Given the description of an element on the screen output the (x, y) to click on. 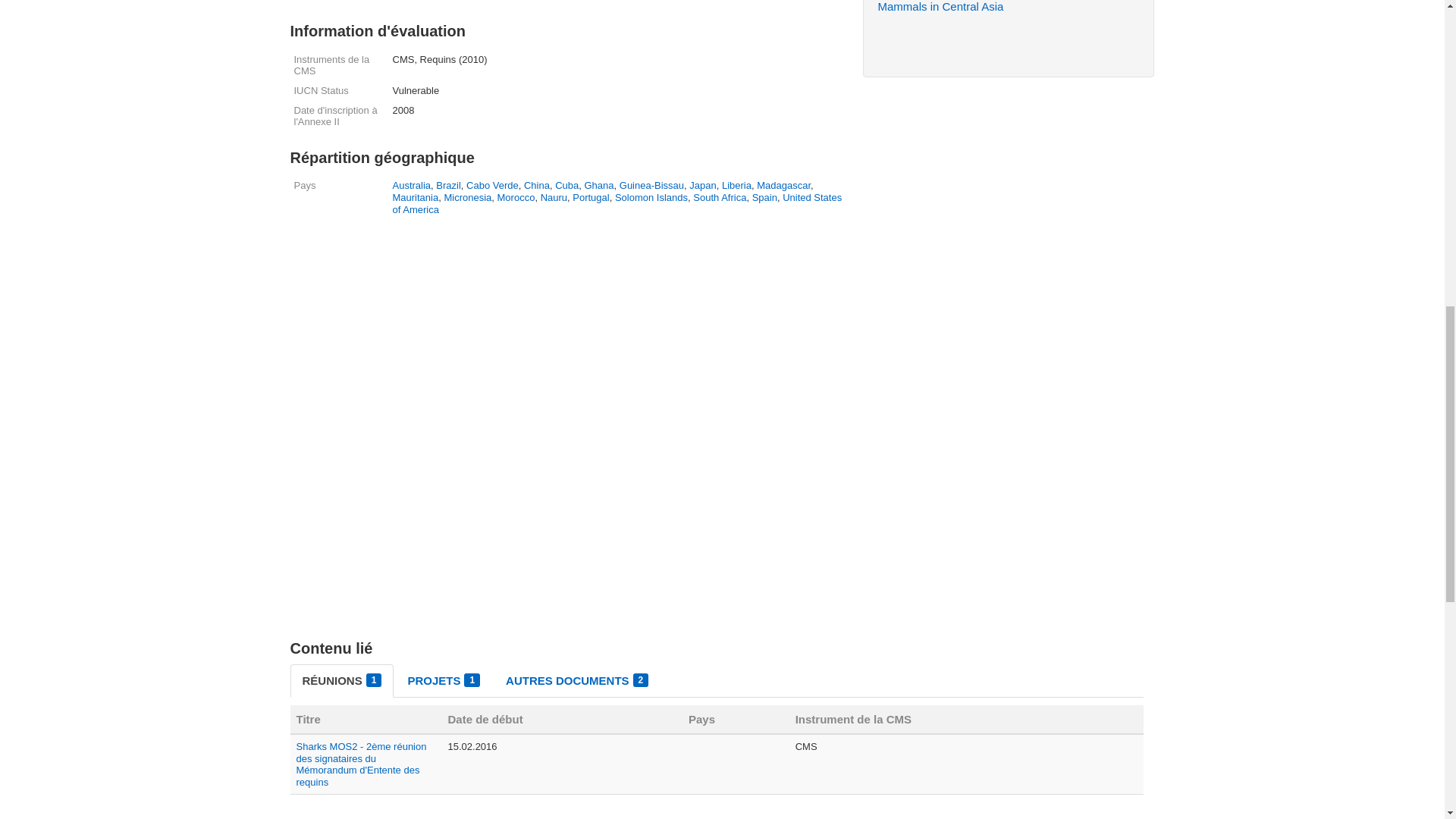
Cabo Verde (491, 184)
China (537, 184)
Australia (411, 184)
Brazil (448, 184)
Cuba (566, 184)
